Given the description of an element on the screen output the (x, y) to click on. 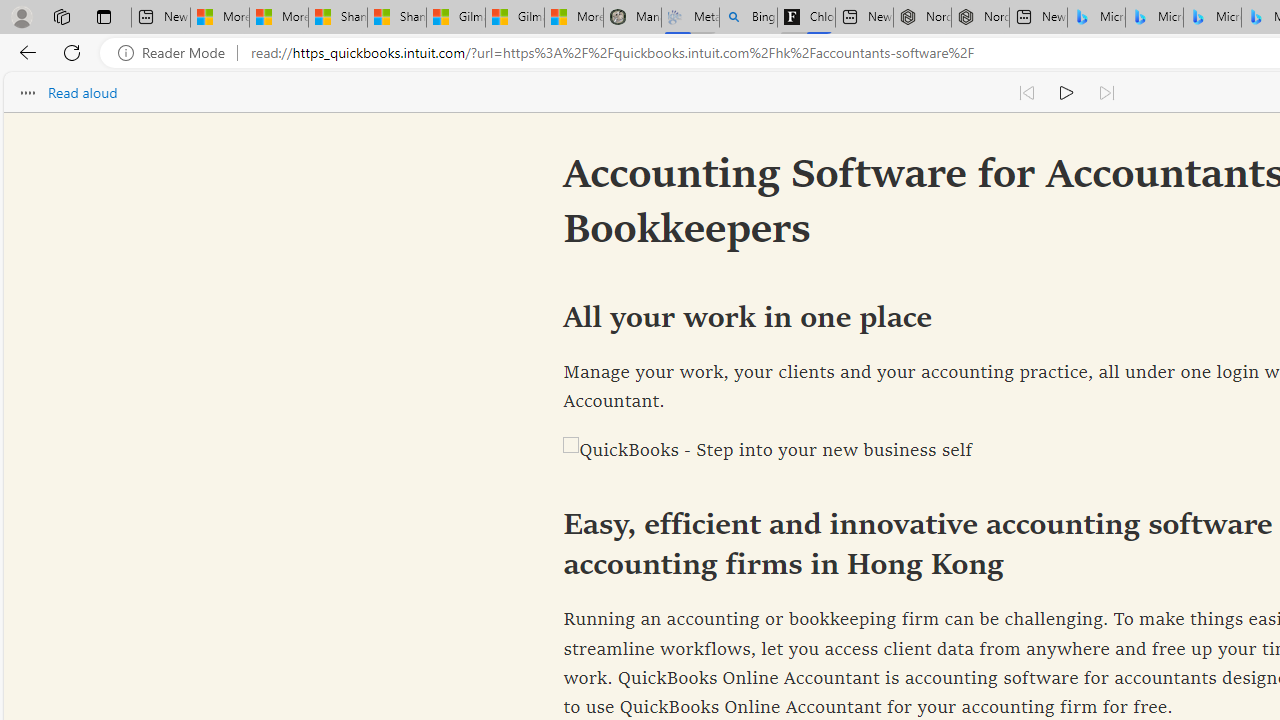
Gilma and Hector both pose tropical trouble for Hawaii (514, 17)
Continue to read aloud (Ctrl+Shift+U) (1065, 92)
Microsoft Bing Travel - Shangri-La Hotel Bangkok (1212, 17)
Bing Real Estate - Home sales and rental listings (747, 17)
